Given the description of an element on the screen output the (x, y) to click on. 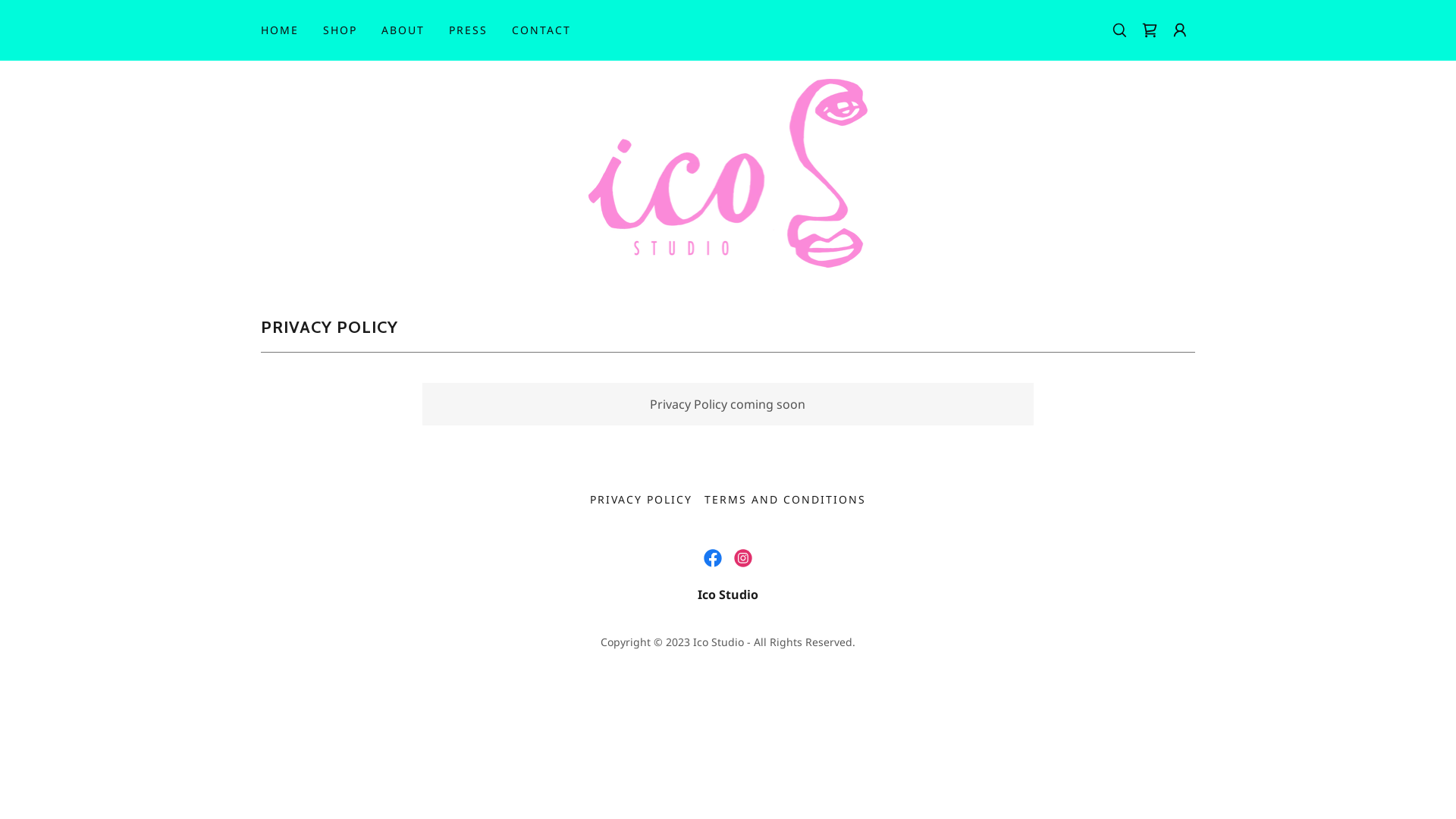
PRIVACY POLICY Element type: text (640, 499)
SHOP Element type: text (339, 29)
CONTACT Element type: text (541, 29)
ABOUT Element type: text (402, 29)
TERMS AND CONDITIONS Element type: text (785, 499)
HOME Element type: text (279, 29)
Ico Studio Element type: hover (728, 171)
PRESS Element type: text (468, 29)
